Given the description of an element on the screen output the (x, y) to click on. 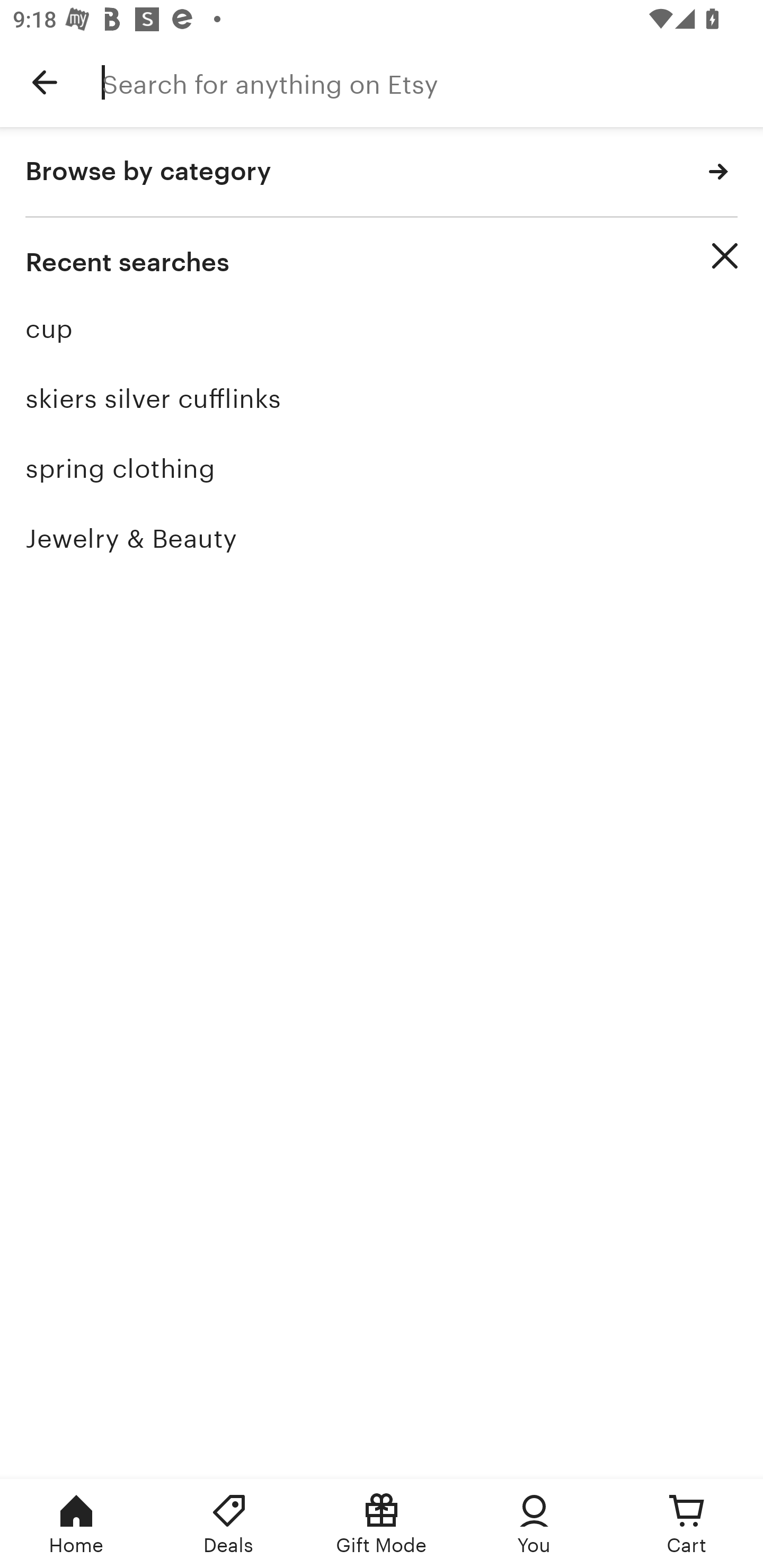
Navigate up (44, 82)
Search for anything on Etsy (432, 82)
Browse by category (381, 172)
Clear (724, 255)
cup (381, 328)
skiers silver cufflinks (381, 398)
spring clothing (381, 468)
Jewelry & Beauty (381, 538)
Deals (228, 1523)
Gift Mode (381, 1523)
You (533, 1523)
Cart (686, 1523)
